Given the description of an element on the screen output the (x, y) to click on. 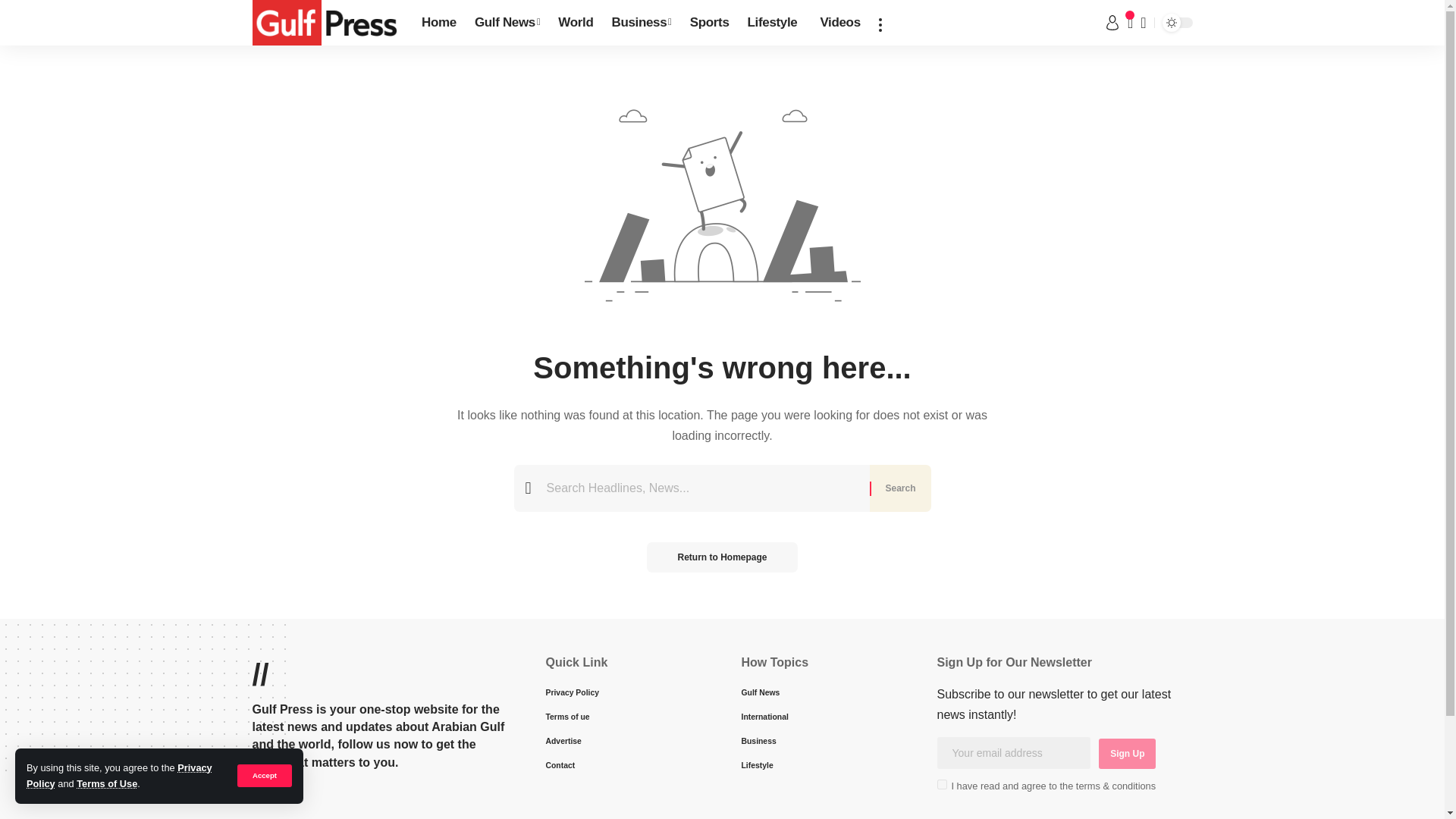
Terms of Use (106, 783)
Sports (709, 22)
Gulf Press (324, 22)
World (575, 22)
1 (942, 784)
Search (899, 488)
Privacy Policy (119, 775)
Gulf News (506, 22)
Sign Up (1127, 753)
Accept (264, 775)
Home (438, 22)
Business (640, 22)
Search (899, 488)
Lifestyle (772, 22)
Videos (837, 22)
